Given the description of an element on the screen output the (x, y) to click on. 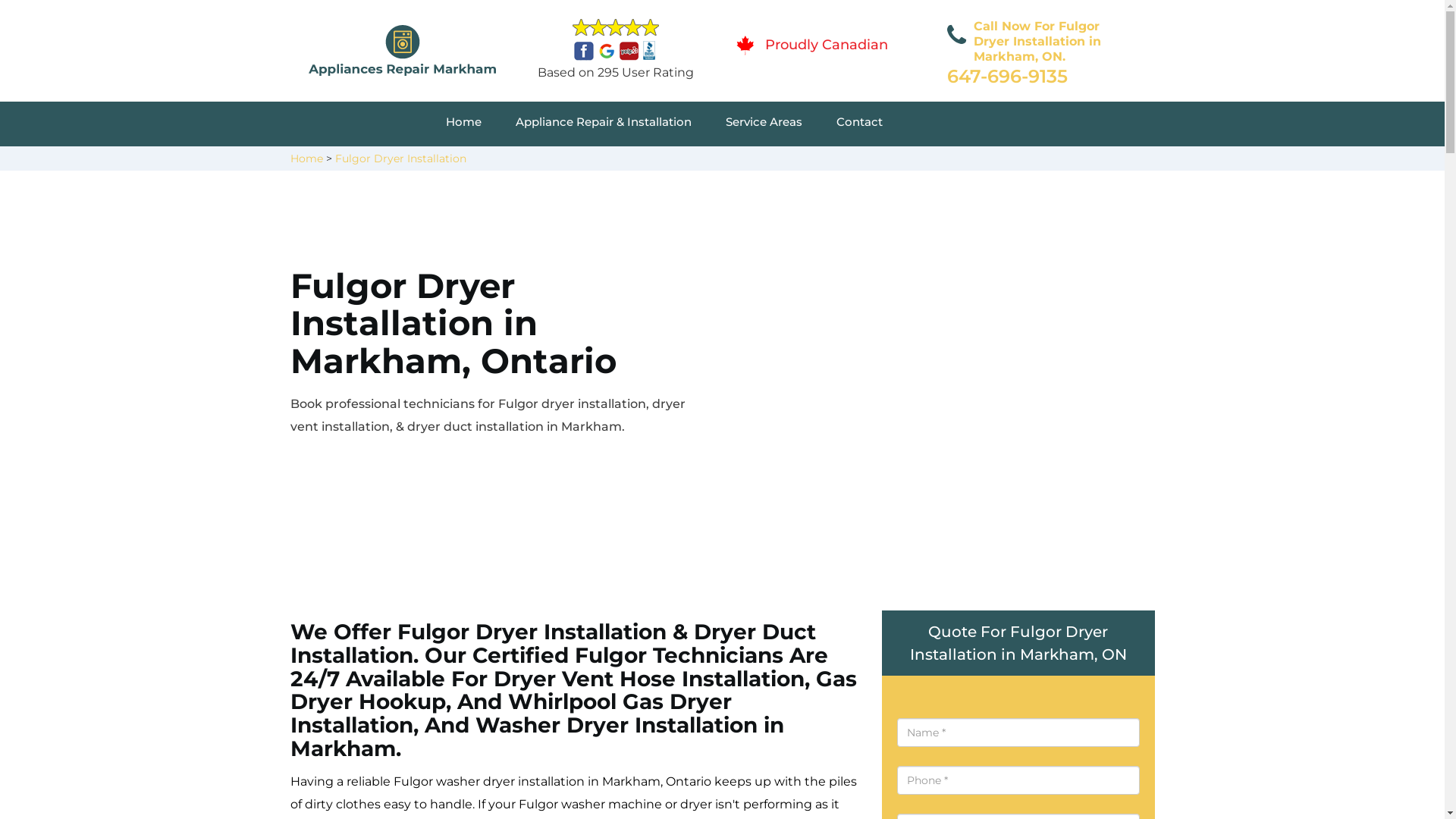
Washing Machine Installation Element type: text (844, 160)
Stove Repair Element type: text (564, 160)
Commercial Appliances Installation Element type: text (869, 160)
Appliance Repair & Installation Element type: text (620, 123)
Dishwasher Repair Element type: text (805, 160)
Home Element type: text (305, 158)
Oven Repair Element type: text (804, 160)
Oven Installation Element type: text (1060, 160)
Refrigerator Repair Element type: text (829, 160)
Freezer Repair Element type: text (553, 160)
Residential Appliance Repair Element type: text (610, 160)
Commercial Appliances Repair Element type: text (597, 160)
Fulgor Dryer Installation Element type: text (400, 158)
Washing Machine Repair Element type: text (593, 160)
Dryer Installation Element type: text (1070, 160)
Gas Stove Installation Element type: text (817, 160)
Oven Elements Replacement Element type: text (598, 160)
Microwave Installation Element type: text (825, 160)
Refrigerator Installation Element type: text (1087, 160)
647-696-9135 Element type: text (1006, 76)
Range Repair Element type: text (562, 160)
Microwave Repair Element type: text (823, 160)
Dishwasher Installation Element type: text (573, 160)
Gas Stove Repair Element type: text (815, 160)
Home Element type: text (480, 123)
Kitchen Appliance Installation Element type: text (1091, 160)
Freezer Installation Element type: text (1069, 160)
Residential Appliance Installation Element type: text (1099, 160)
Stove Installation Element type: text (1056, 160)
Dryer Repair Element type: text (553, 160)
Contact Element type: text (876, 123)
Range Installation Element type: text (1068, 160)
Service Areas Element type: text (780, 123)
Kitchen Appliances Repair Element type: text (593, 160)
Oven Element Installation Element type: text (1085, 160)
Appliances Installation Element type: text (828, 160)
